Given the description of an element on the screen output the (x, y) to click on. 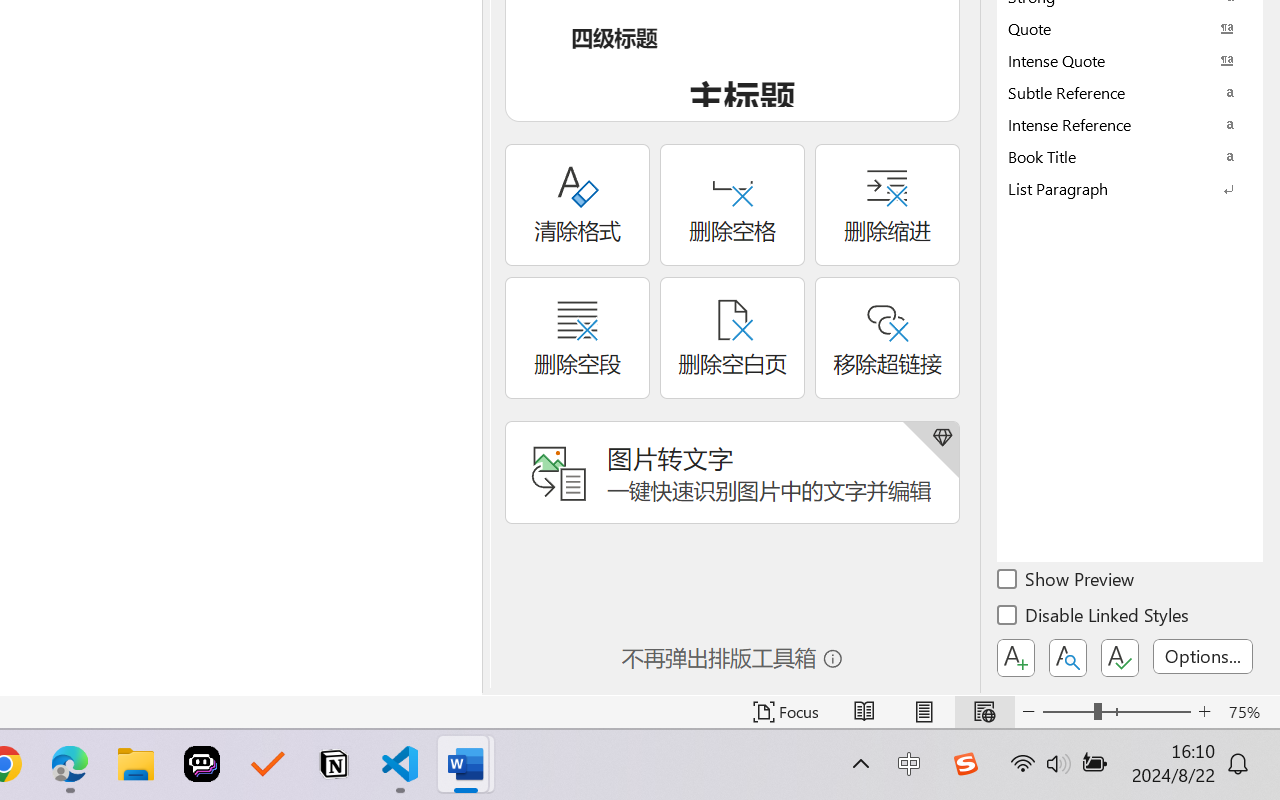
List Paragraph (1130, 188)
Read Mode (864, 712)
